Given the description of an element on the screen output the (x, y) to click on. 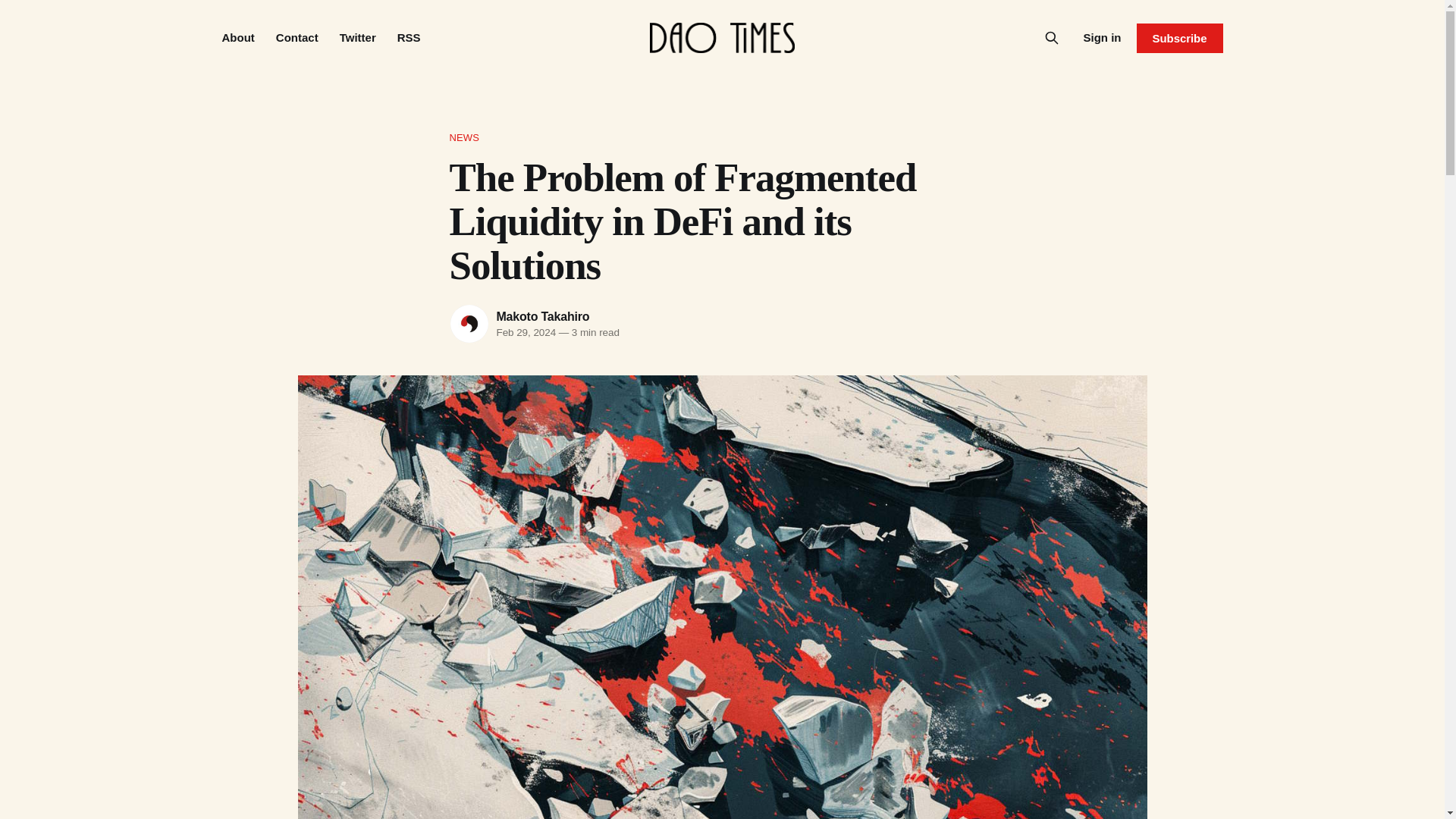
Sign in (1102, 37)
RSS (408, 37)
NEWS (721, 138)
Subscribe (1179, 37)
About (237, 37)
Twitter (357, 37)
Makoto Takahiro (542, 316)
Contact (297, 37)
